Given the description of an element on the screen output the (x, y) to click on. 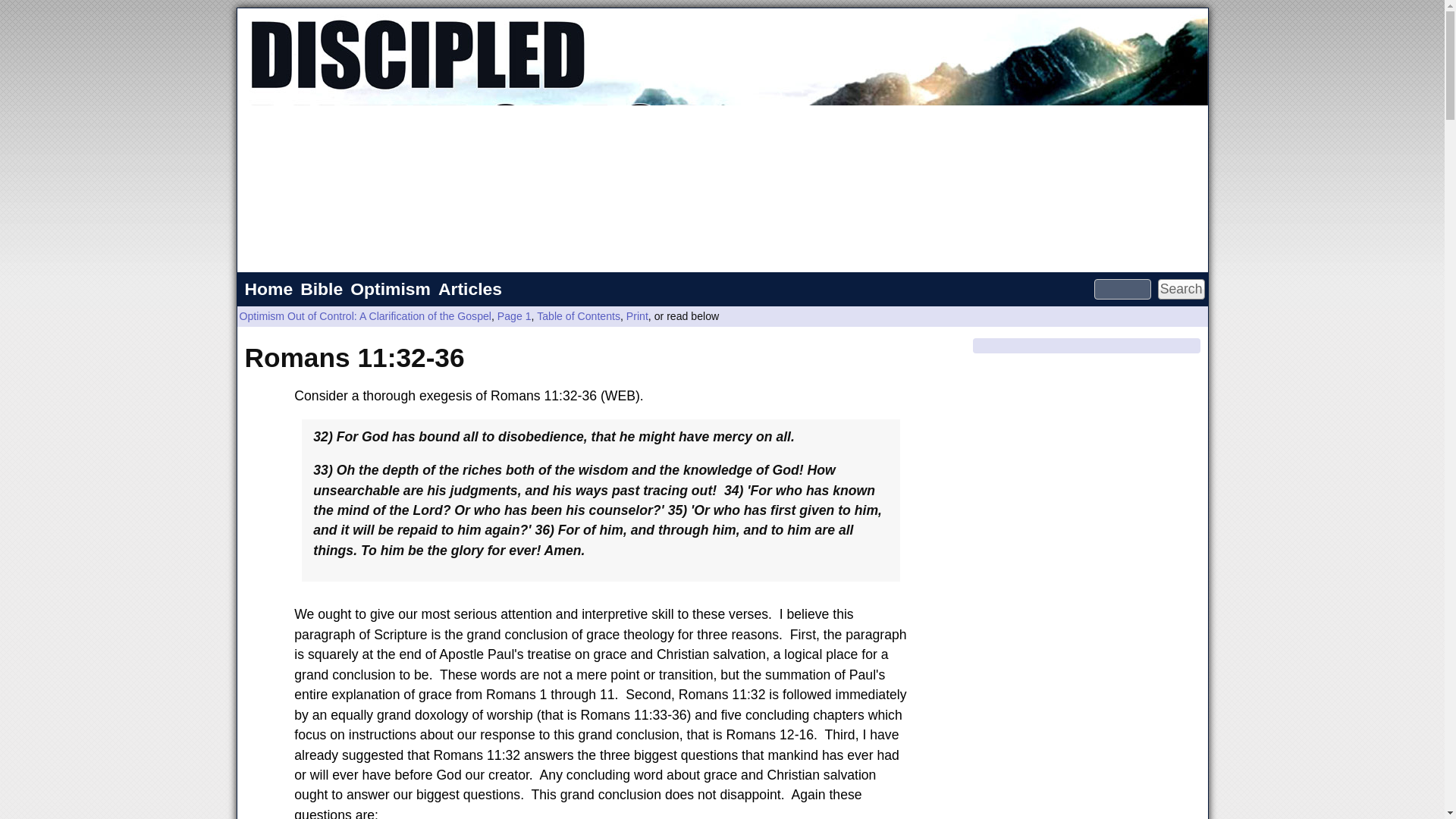
Search (1181, 289)
Optimism Out of Control: A Clarification of the Gospel (366, 316)
Print (636, 316)
Optimism (389, 288)
Home (269, 288)
Articles (469, 288)
Aionian Bible - The World's First Bible Untranslation (321, 288)
Search (1181, 289)
Table of Contents (578, 316)
Enter the terms you wish to search for. (1122, 289)
Page 1 (514, 316)
Bible (321, 288)
